Given the description of an element on the screen output the (x, y) to click on. 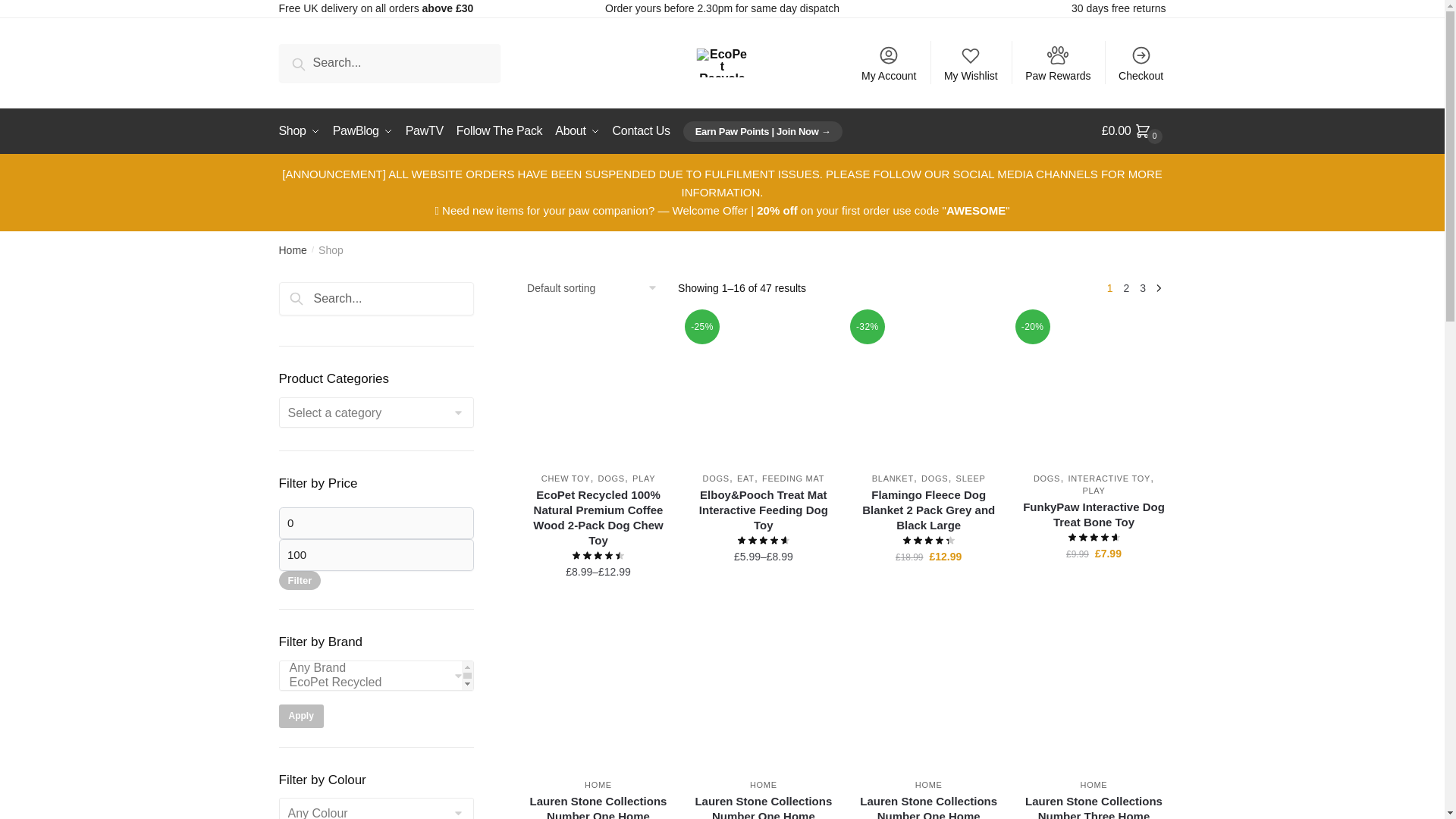
My Wishlist (970, 62)
FunkyPaw Interactive Dog Treat Bone Toy (1094, 387)
Search (316, 304)
PawTV (423, 130)
0 (376, 522)
Contact Us (642, 130)
Search (316, 304)
Shop (302, 130)
